Given the description of an element on the screen output the (x, y) to click on. 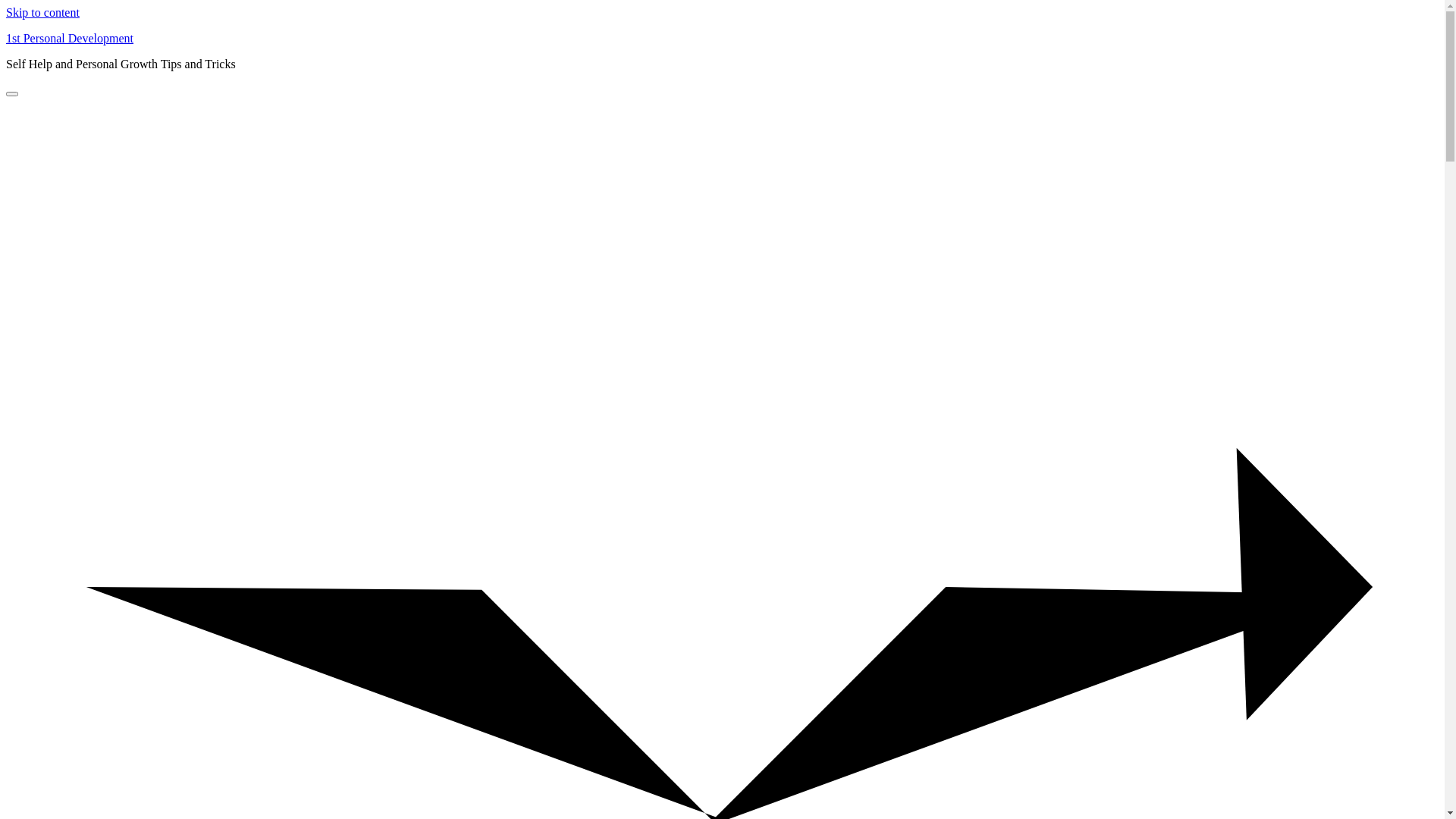
Skip to content Element type: text (42, 12)
1st Personal Development Element type: text (69, 37)
